Given the description of an element on the screen output the (x, y) to click on. 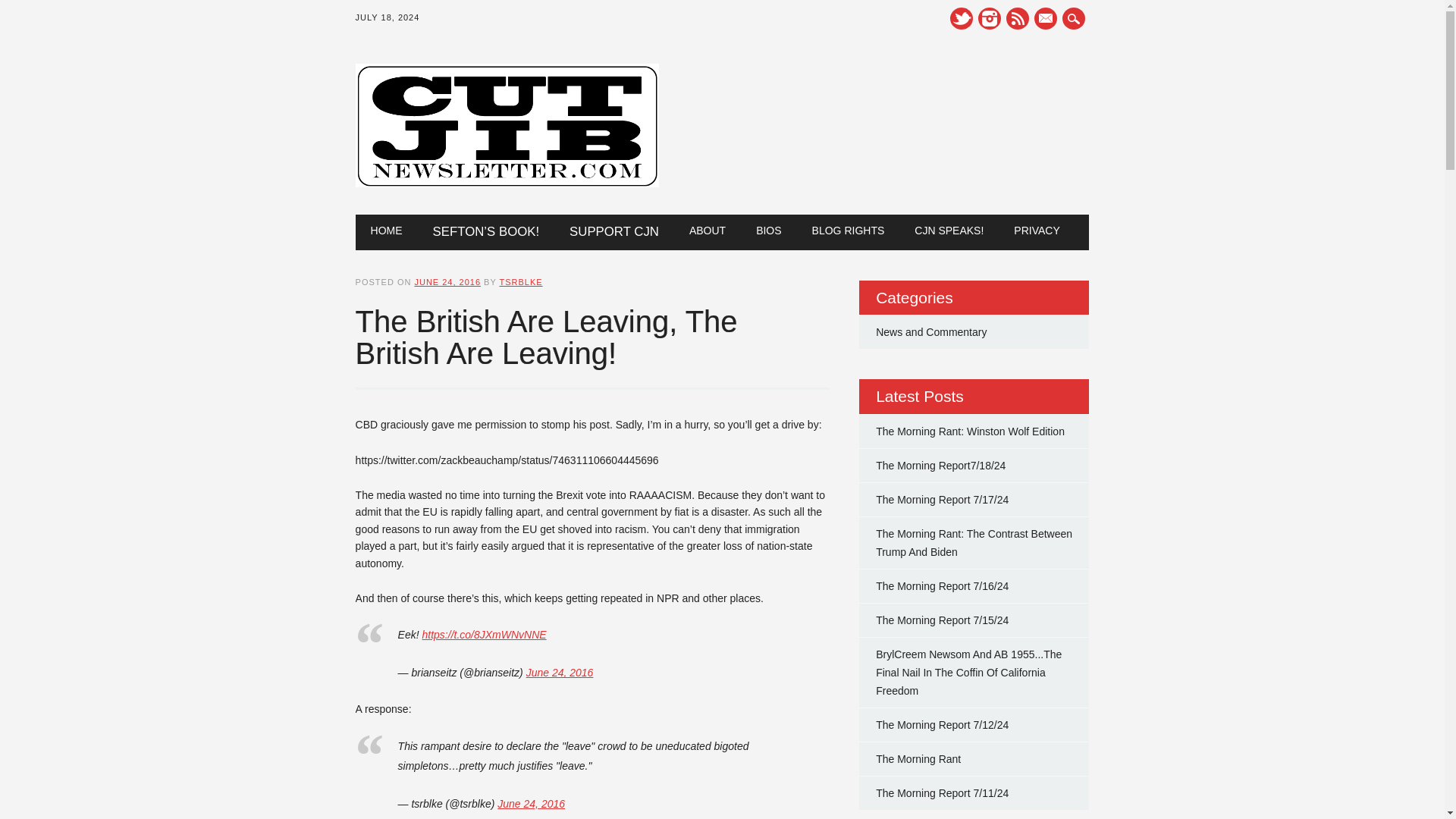
June 24, 2016 (559, 672)
cut.jib.newsletter (507, 183)
Twitter (961, 18)
TSRBLKE (520, 281)
CJN SPEAKS! (948, 230)
PRIVACY (1036, 230)
E-mail (1045, 18)
RSS (1017, 18)
JUNE 24, 2016 (446, 281)
The Morning Rant: The Contrast Between Trump And Biden (973, 542)
BIOS (768, 230)
SUPPORT CJN (614, 232)
5:08 pm (446, 281)
BLOG RIGHTS (847, 230)
June 24, 2016 (530, 803)
